Given the description of an element on the screen output the (x, y) to click on. 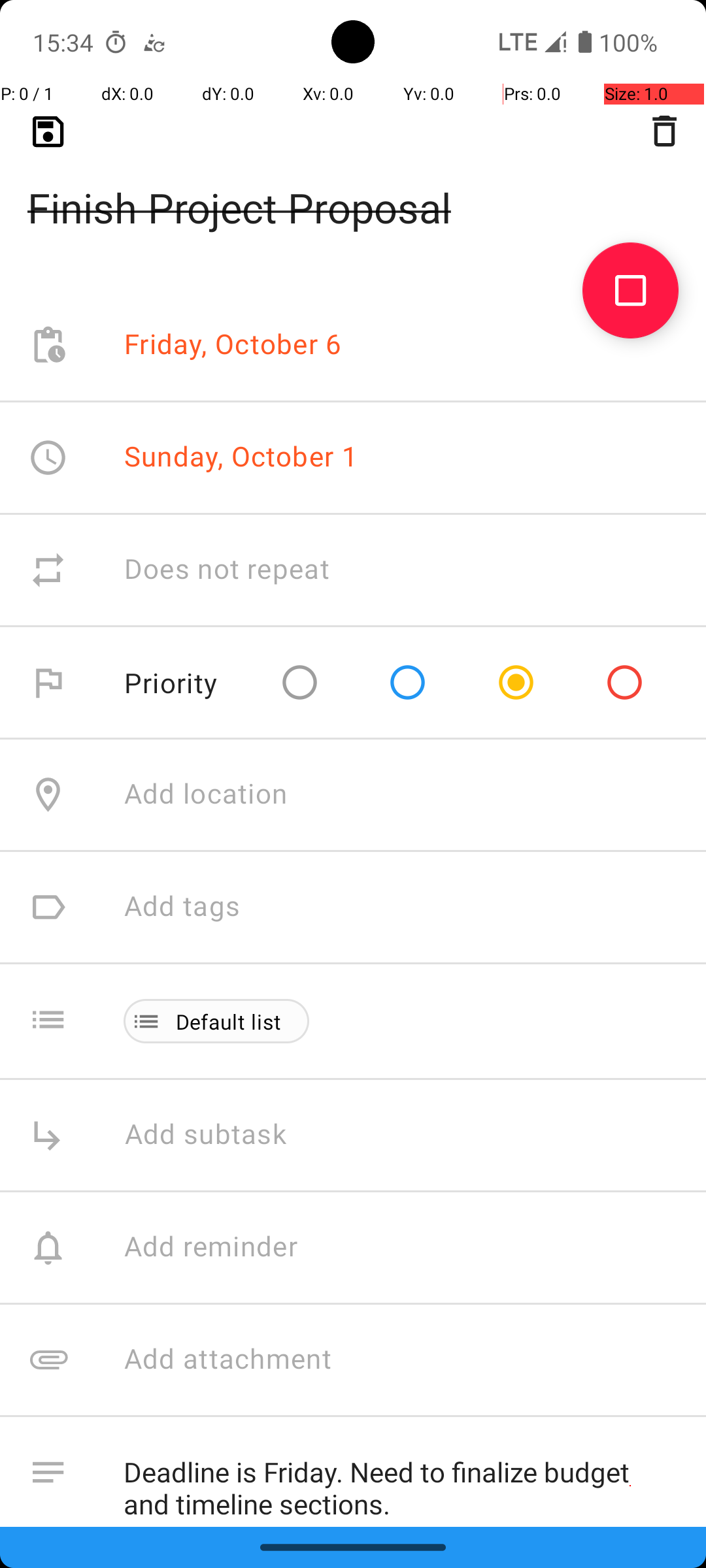
Sunday, October 1 Element type: android.widget.TextView (240, 455)
Friday, October 6 Element type: android.widget.TextView (232, 344)
